Given the description of an element on the screen output the (x, y) to click on. 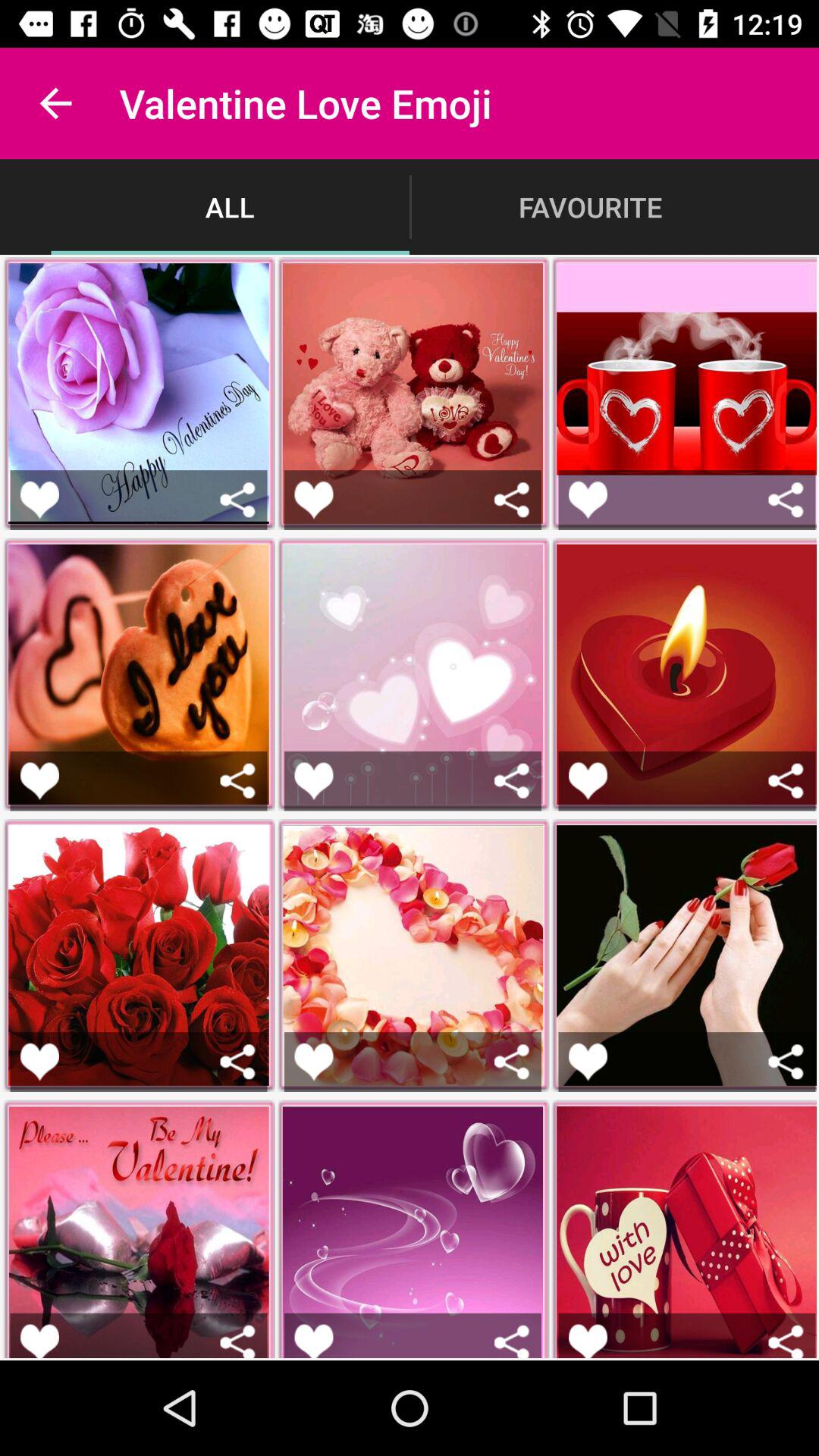
share emoji (237, 1340)
